Given the description of an element on the screen output the (x, y) to click on. 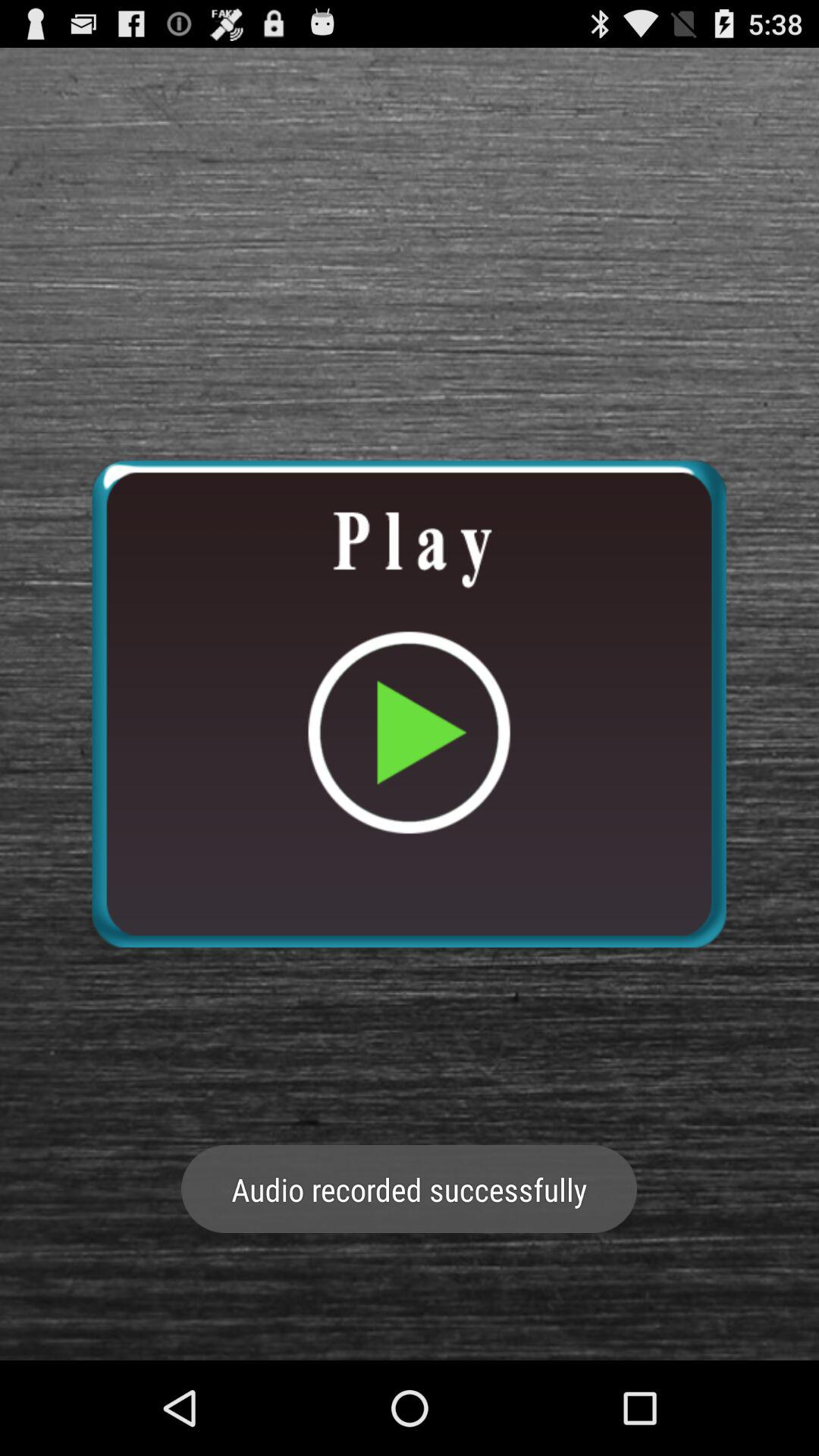
go to play button (409, 703)
